Given the description of an element on the screen output the (x, y) to click on. 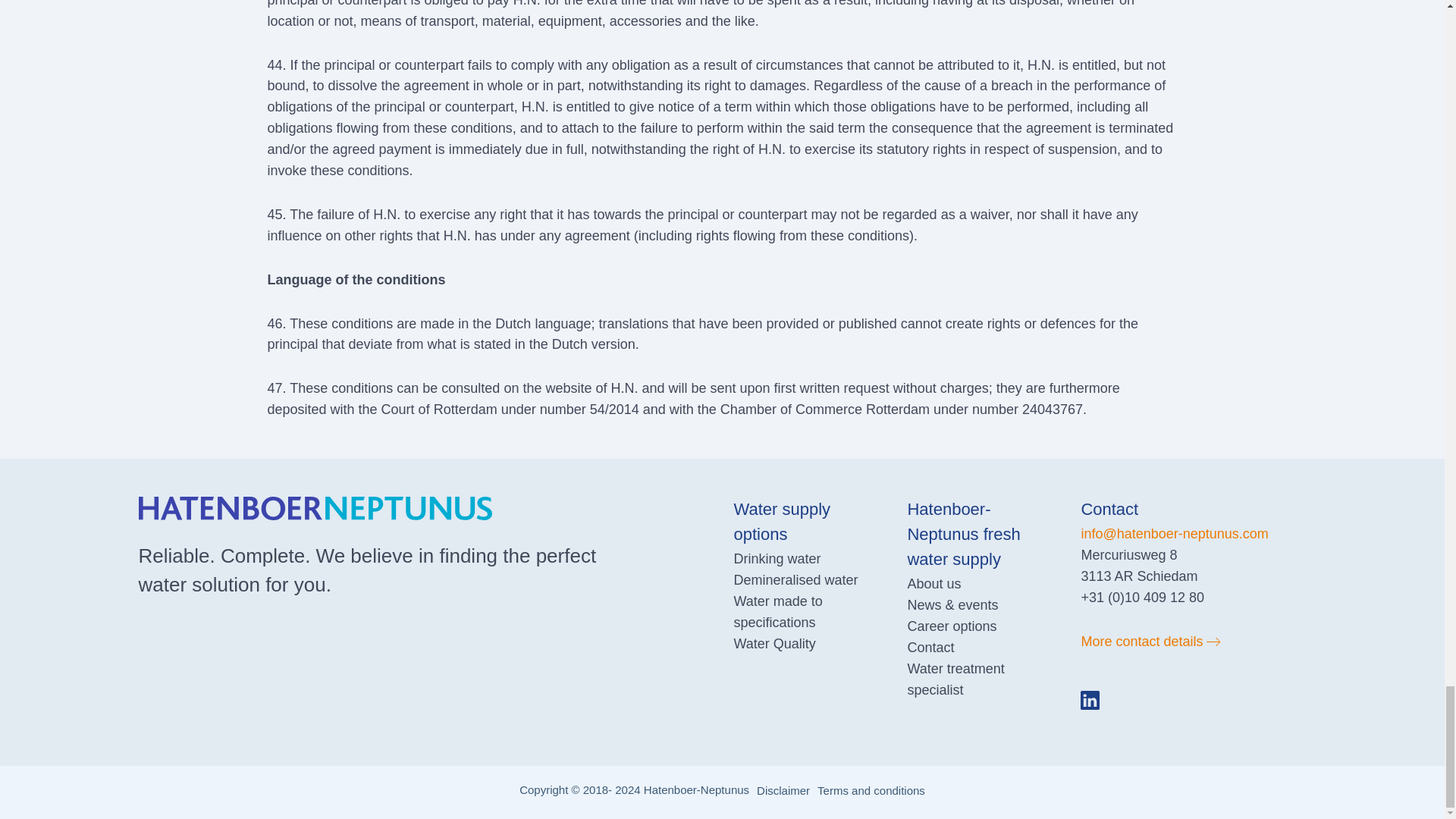
Disclaimer (783, 789)
Water made to specifications (777, 611)
More contact details (1193, 641)
Career options (951, 626)
Demineralised water (795, 580)
Water Quality (774, 643)
Drinking water (777, 558)
Water treatment specialist (955, 678)
About us (933, 583)
Contact (930, 647)
